Given the description of an element on the screen output the (x, y) to click on. 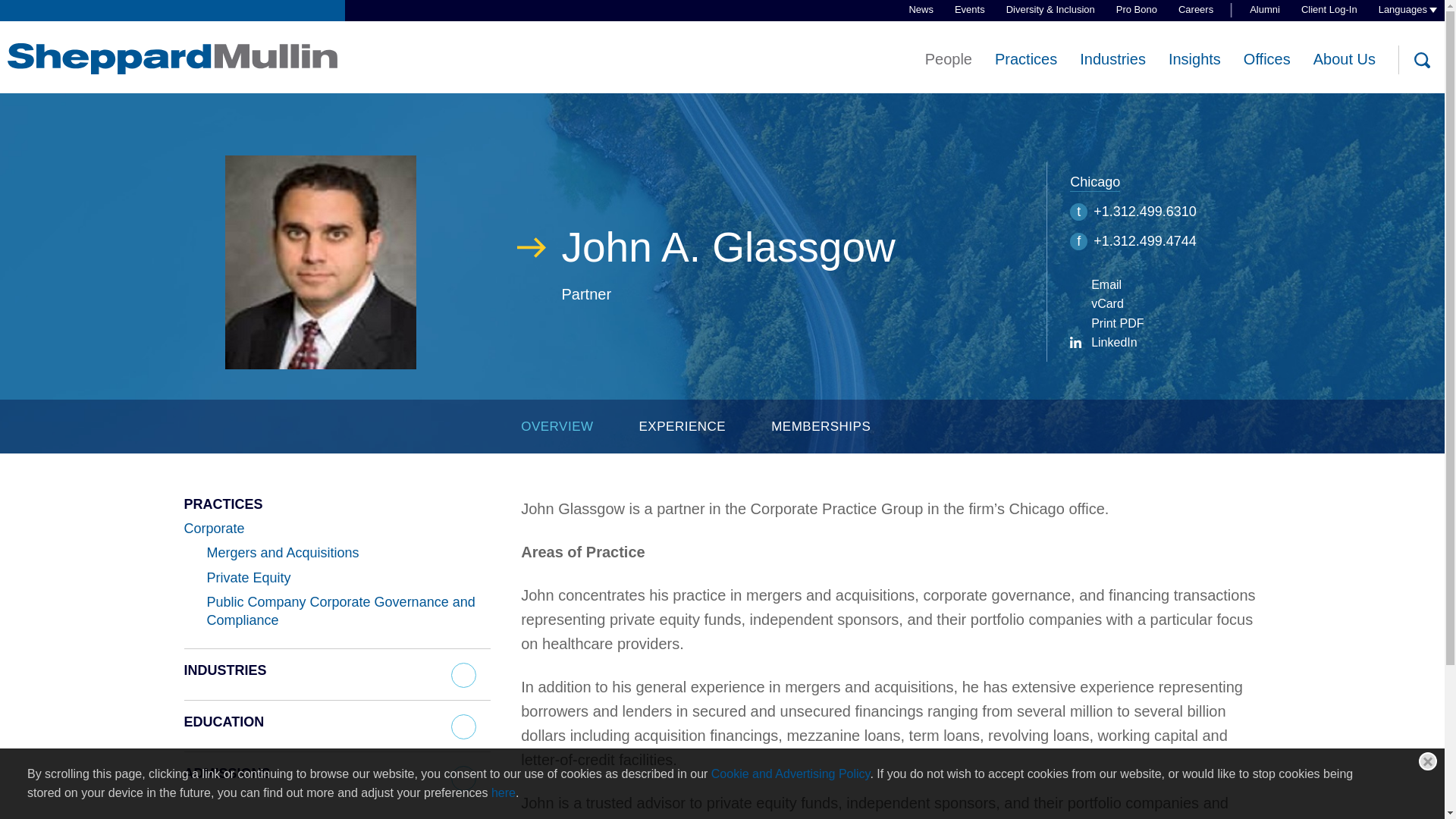
Menu (673, 20)
People (948, 59)
Main Content (666, 20)
Practices (1025, 59)
Main Menu (673, 20)
